Given the description of an element on the screen output the (x, y) to click on. 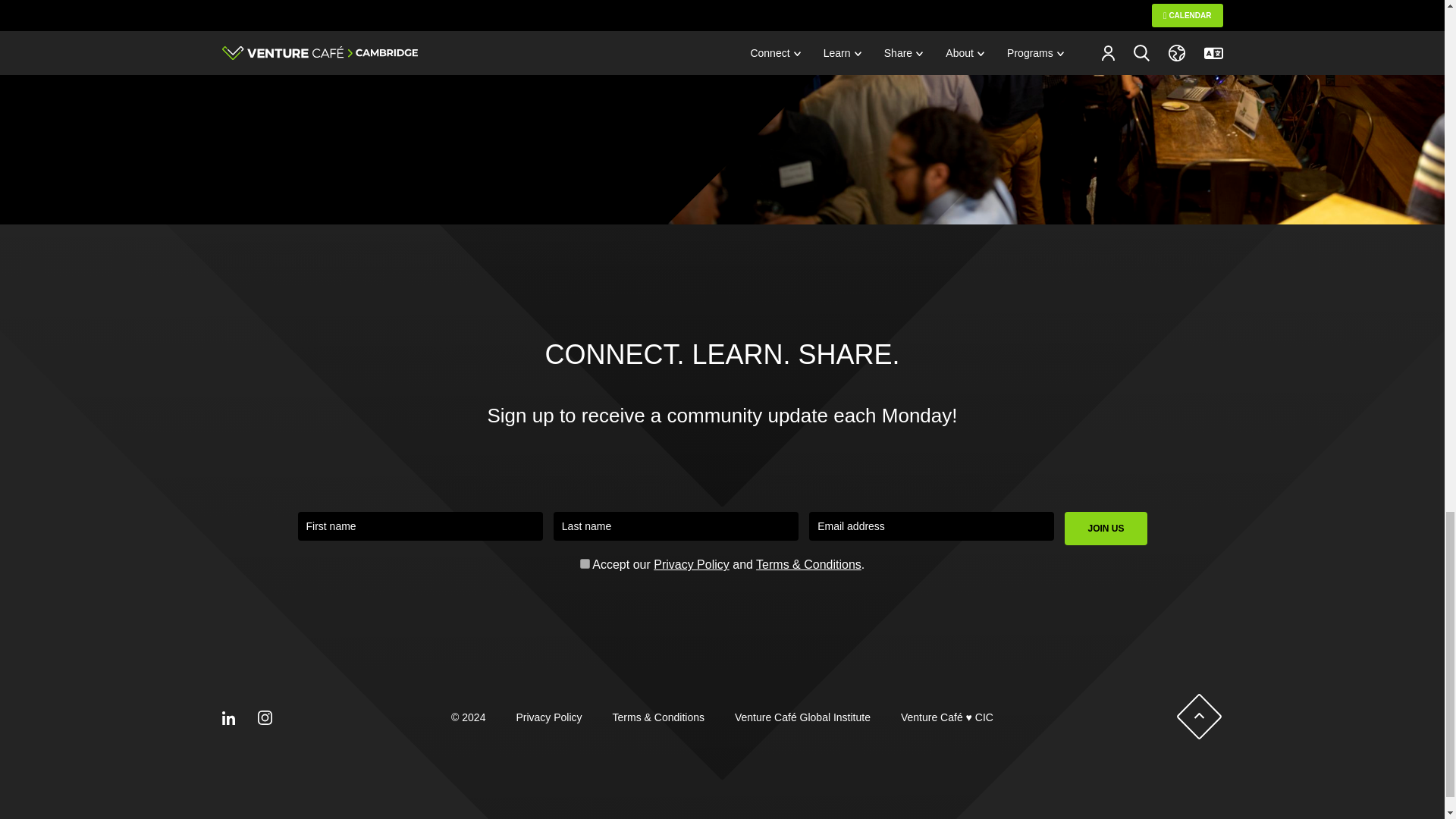
Join Us (1105, 528)
on (584, 563)
